Given the description of an element on the screen output the (x, y) to click on. 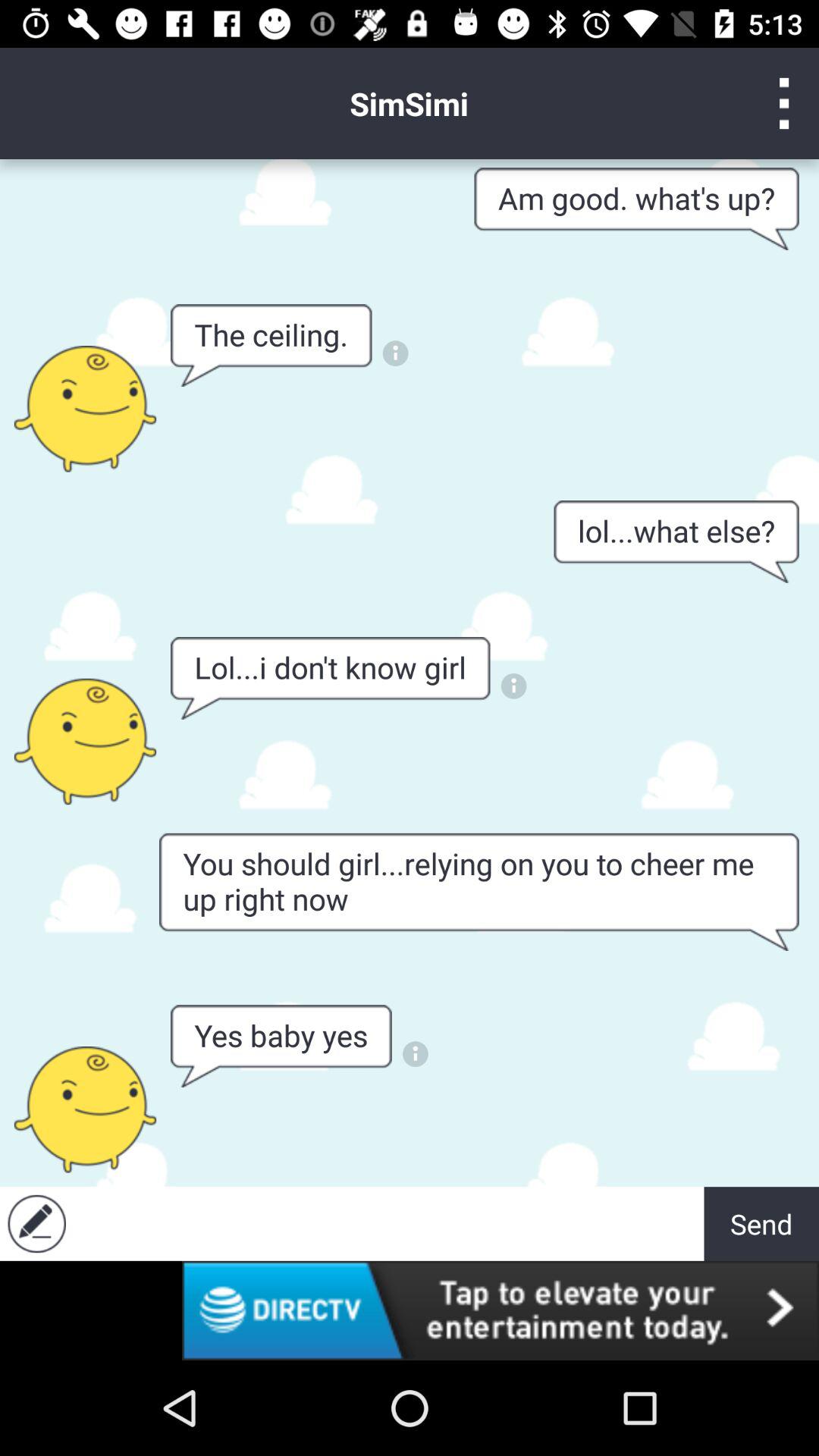
go to details (415, 1054)
